Given the description of an element on the screen output the (x, y) to click on. 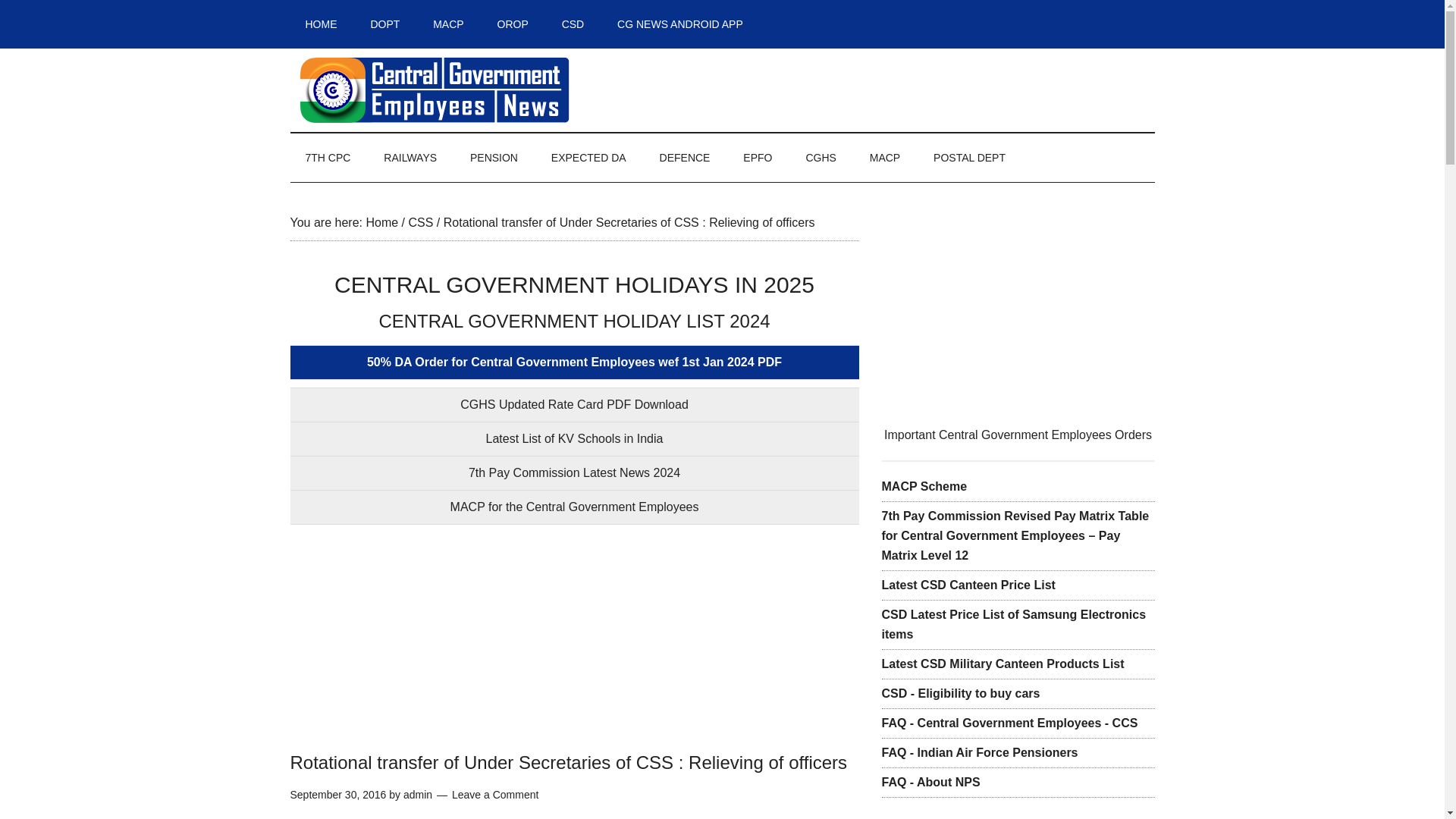
DEFENCE (685, 157)
POSTAL DEPT (969, 157)
MACP (448, 24)
CSD (573, 24)
MACP (884, 157)
Postal Department (969, 157)
EPFO (757, 157)
OROP (512, 24)
CENTRAL GOVERNMENT EMPLOYEES NEWS (433, 90)
DOPT (384, 24)
DOPT Orders (384, 24)
CG NEWS ANDROID APP (680, 24)
CENTRAL GOVERNMENT HOLIDAYS IN 2025 (573, 284)
CGHS (820, 157)
CSS (419, 222)
